Given the description of an element on the screen output the (x, y) to click on. 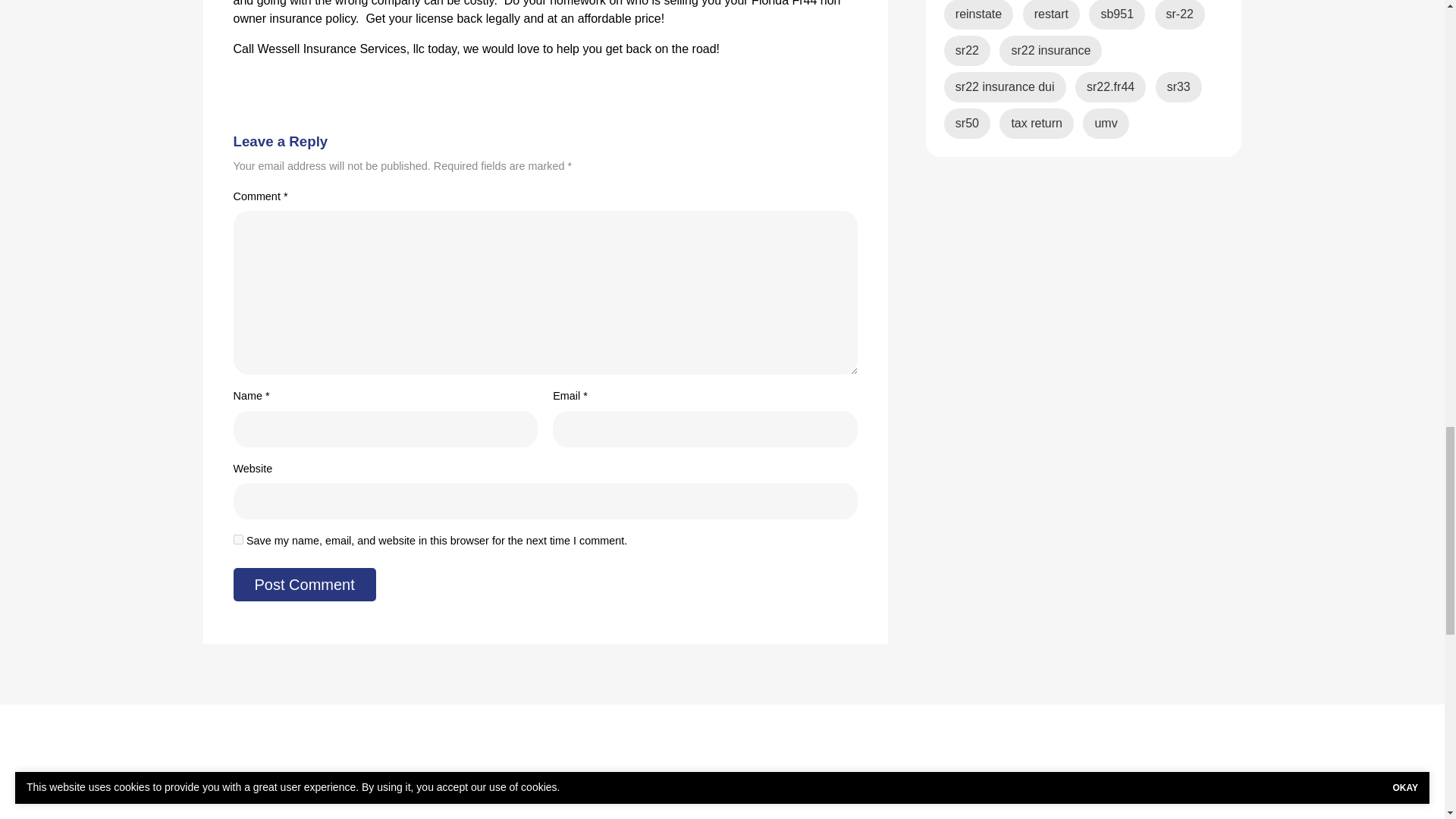
yes (237, 539)
Post Comment (303, 584)
